Given the description of an element on the screen output the (x, y) to click on. 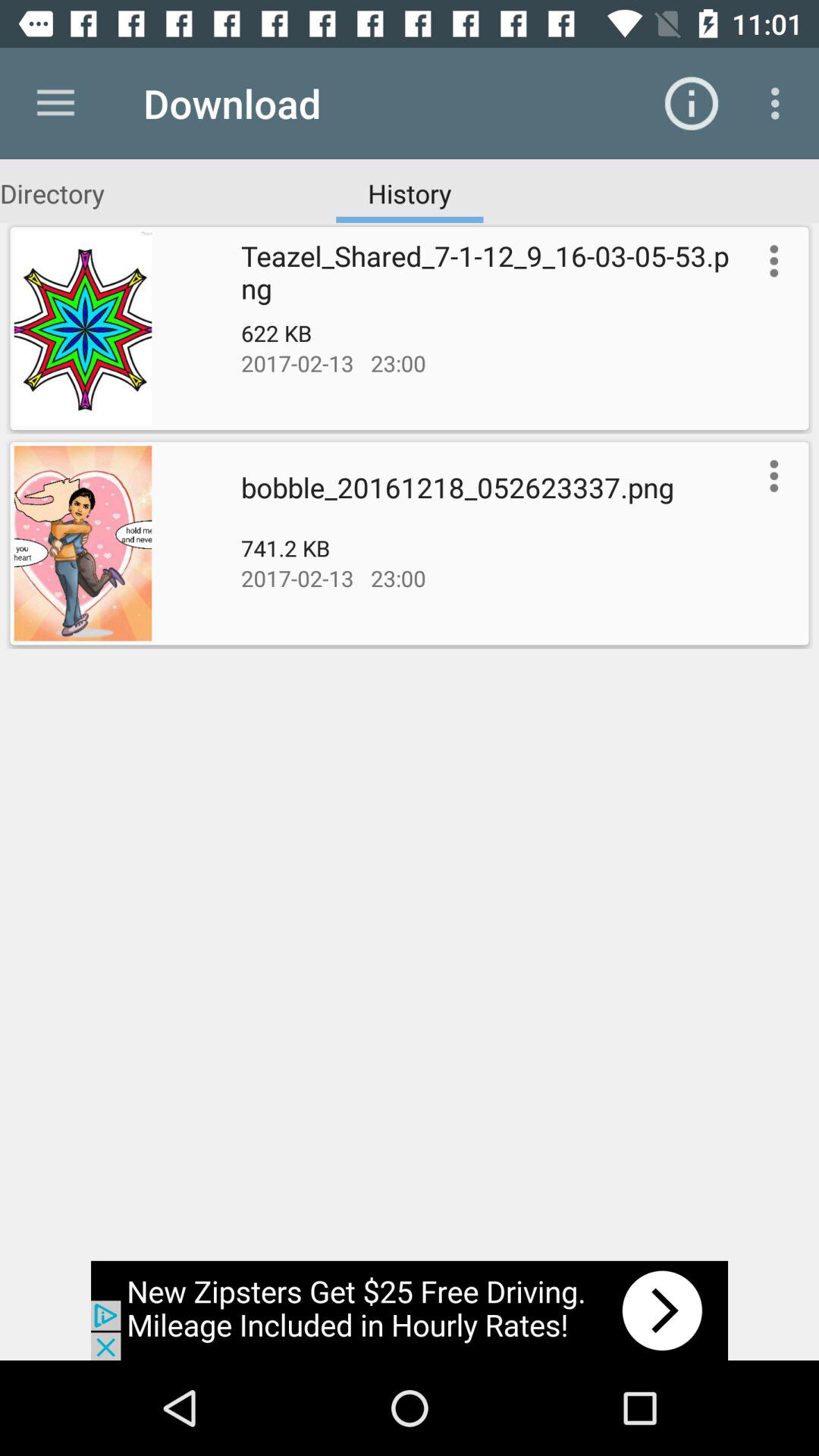
open settings (770, 475)
